Given the description of an element on the screen output the (x, y) to click on. 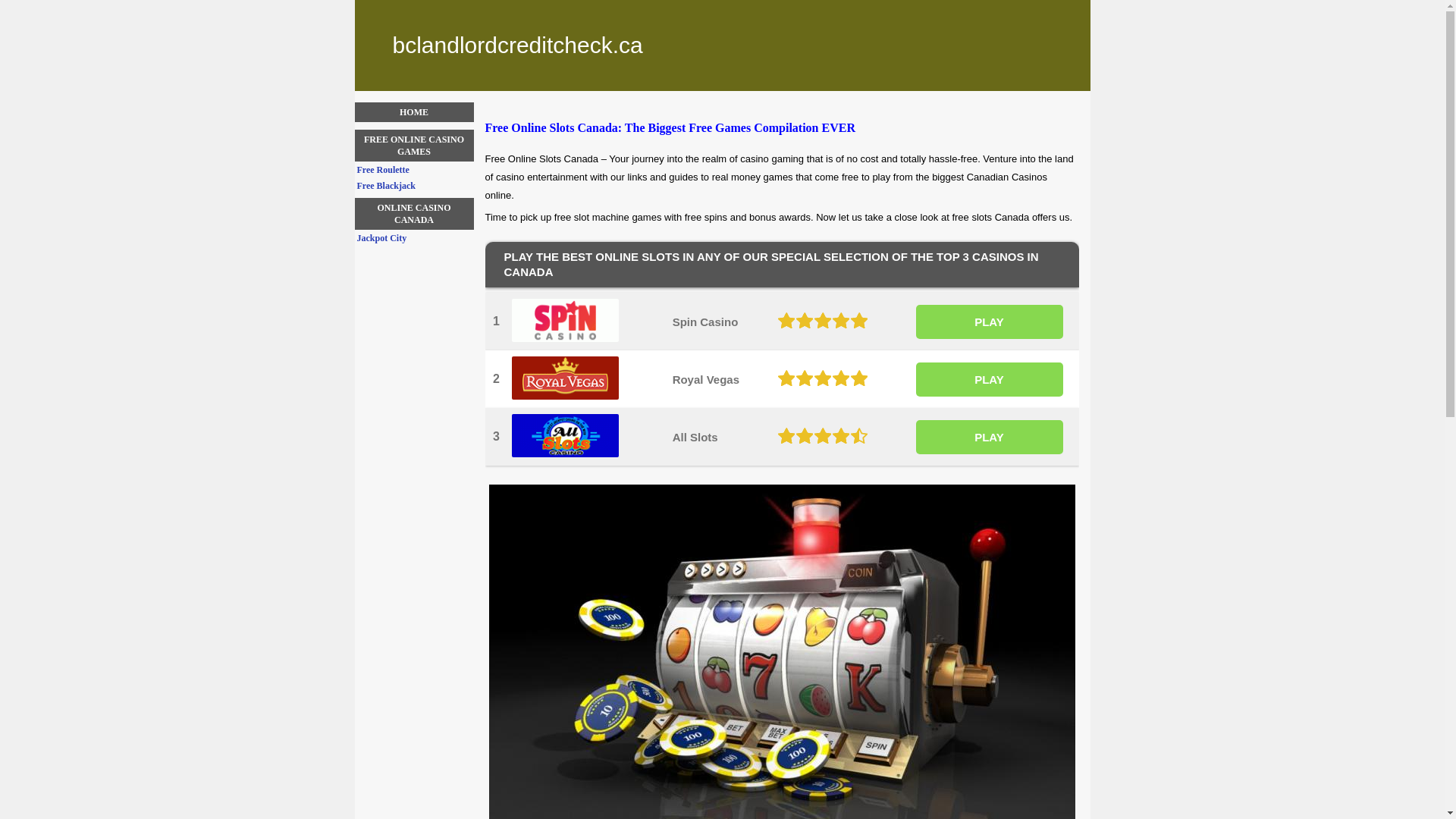
PLAY Element type: text (989, 379)
ONLINE CASINO CANADA Element type: text (413, 213)
PLAY Element type: text (989, 437)
PLAY Element type: text (989, 321)
HOME Element type: text (413, 112)
Free Roulette Element type: text (414, 169)
FREE ONLINE CASINO GAMES Element type: text (413, 145)
Free Blackjack Element type: text (414, 185)
Jackpot City Element type: text (414, 237)
